Given the description of an element on the screen output the (x, y) to click on. 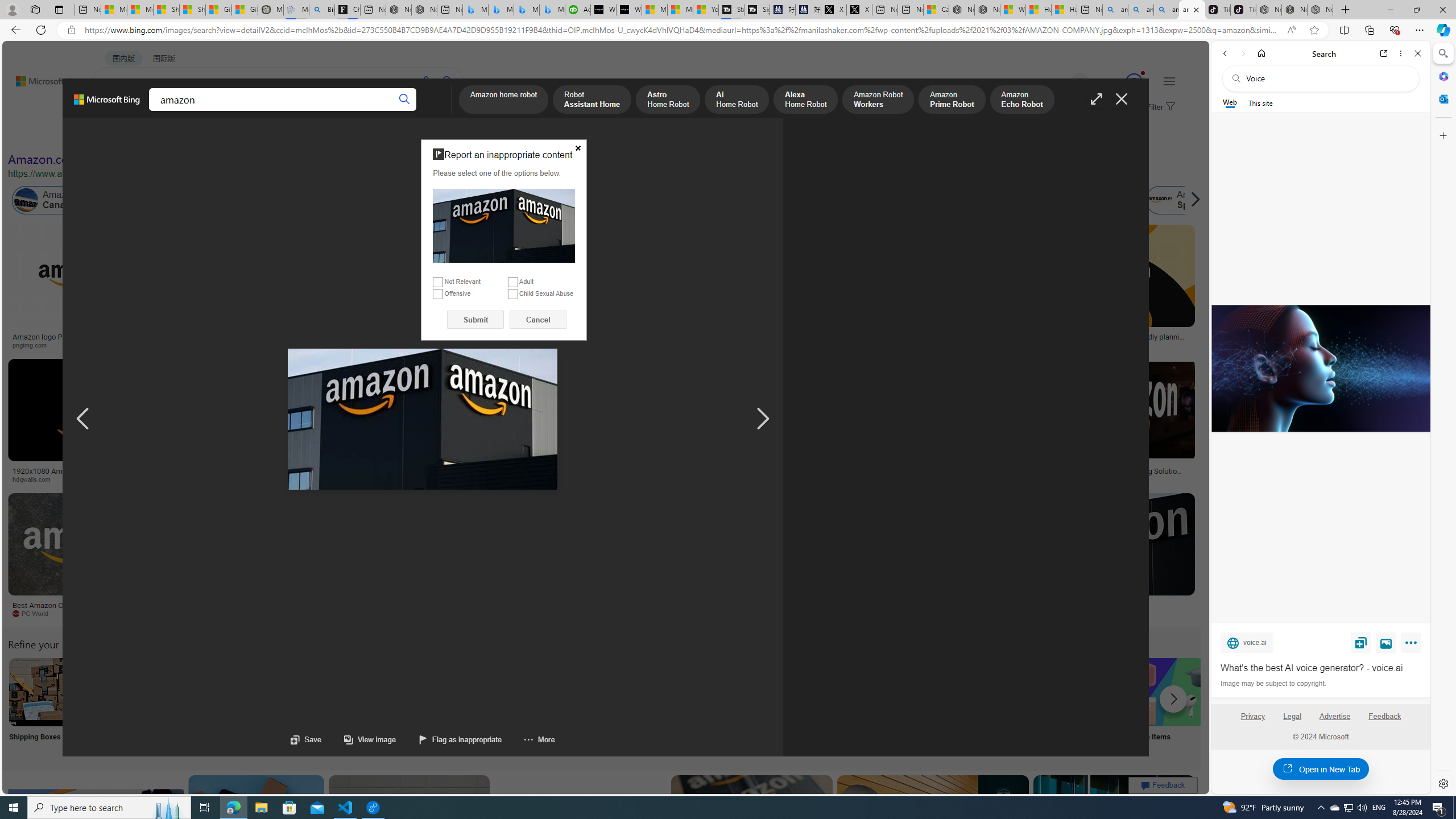
Scroll right (1192, 199)
This site scope (1259, 102)
Open in New Tab (1321, 768)
Amazon Prime Membership (801, 199)
The Verge (190, 612)
